Given the description of an element on the screen output the (x, y) to click on. 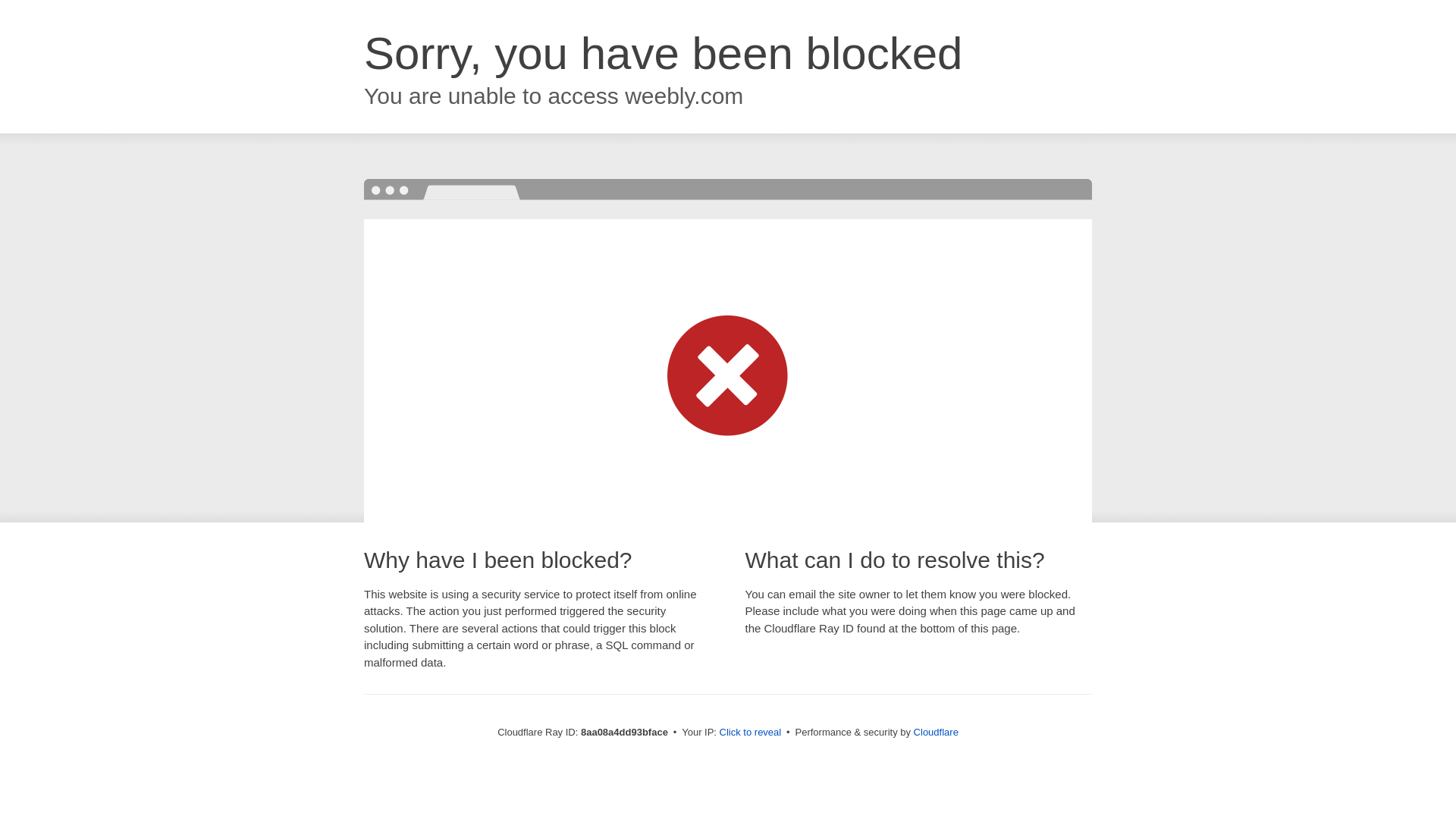
Click to reveal (750, 732)
Cloudflare (936, 731)
